Given the description of an element on the screen output the (x, y) to click on. 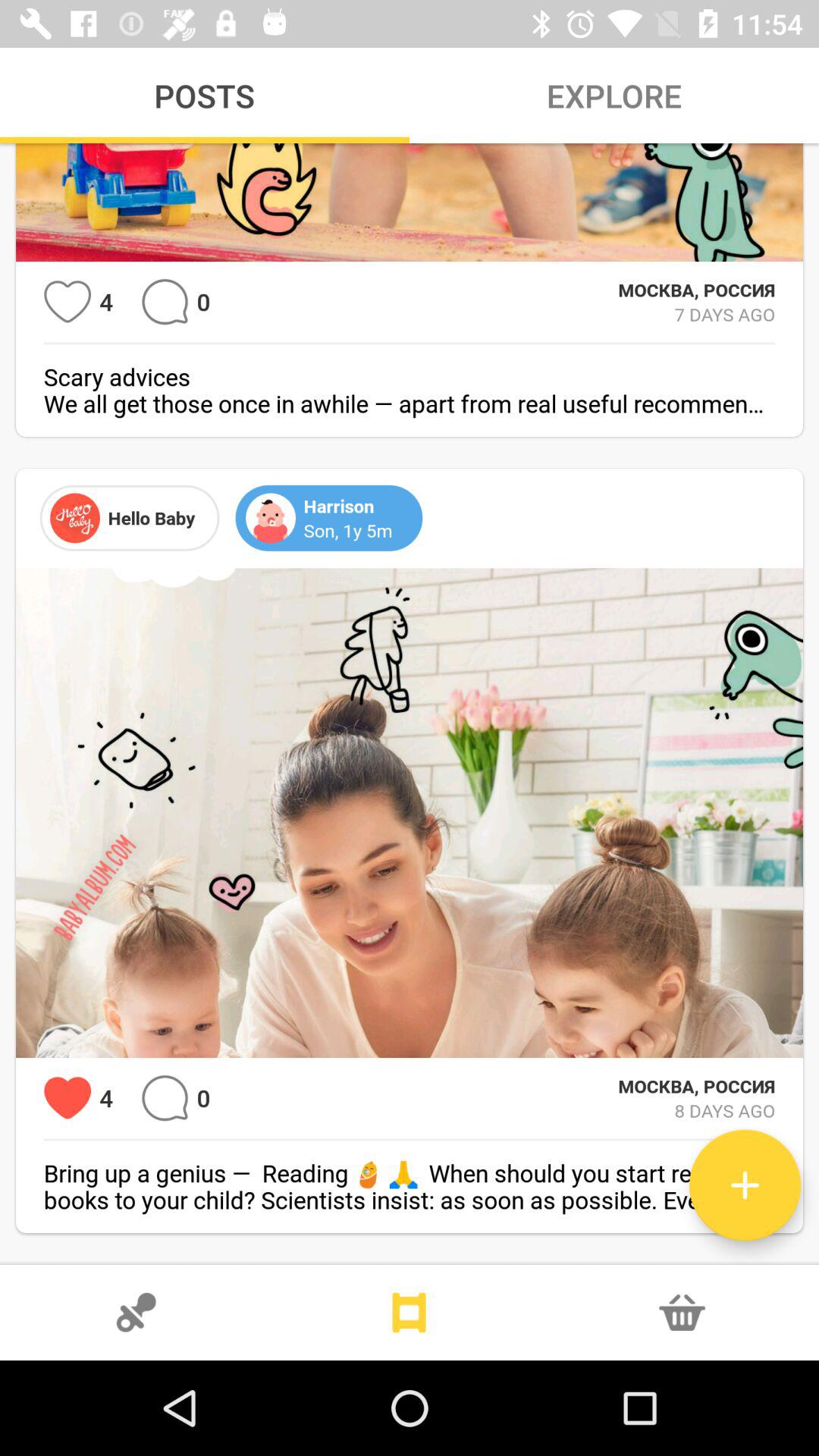
message button (164, 301)
